Given the description of an element on the screen output the (x, y) to click on. 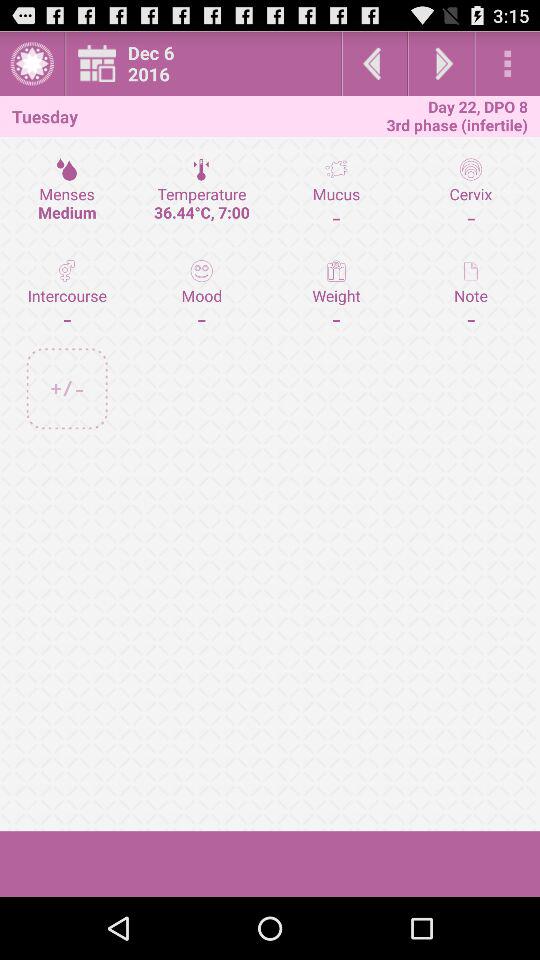
turn off the icon next to mucus
_ (201, 294)
